Given the description of an element on the screen output the (x, y) to click on. 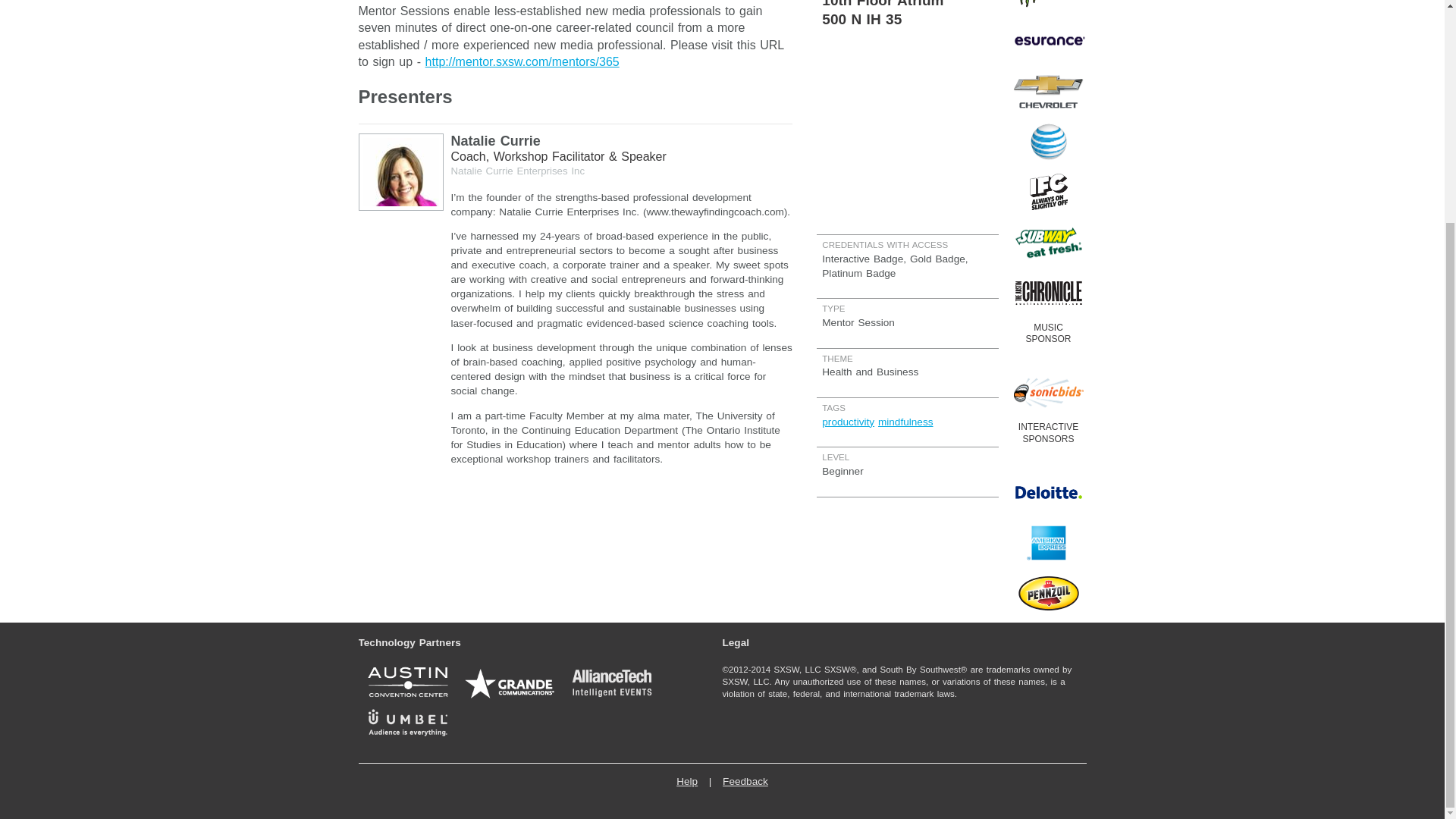
Help (687, 781)
productivity (848, 421)
Hilton Garden Inn (907, 2)
Feedback (745, 781)
mindfulness (905, 421)
